Given the description of an element on the screen output the (x, y) to click on. 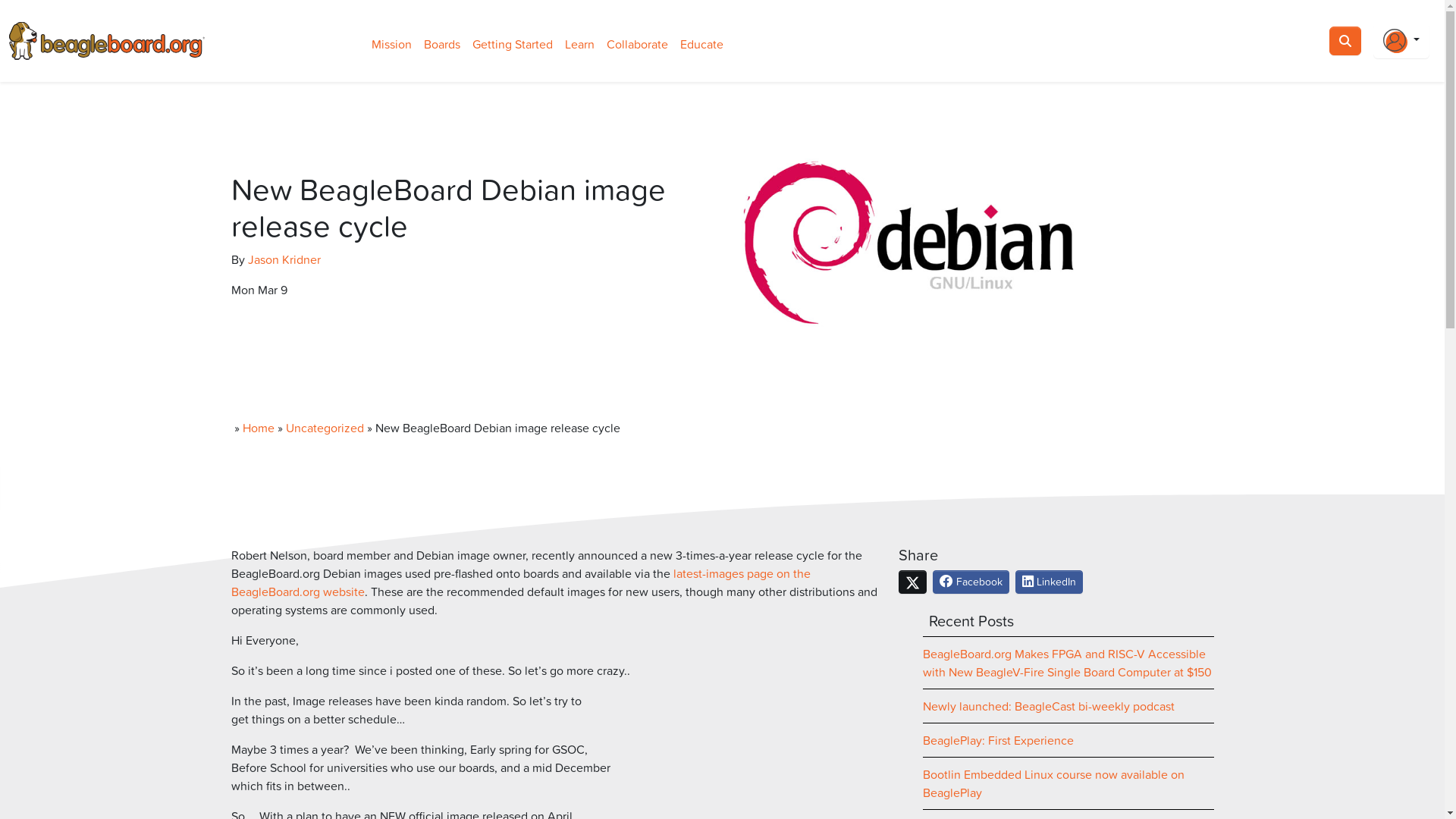
Newly launched: BeagleCast bi-weekly podcast Element type: text (1047, 705)
Home Element type: text (258, 427)
Facebook Element type: text (970, 581)
latest-images page on the BeagleBoard.org website Element type: text (519, 582)
Share on X Element type: hover (911, 581)
Getting Started Element type: text (512, 43)
Bootlin Embedded Linux course now available on BeaglePlay Element type: text (1052, 783)
Toggle search Element type: text (1345, 40)
Educate Element type: text (701, 43)
Jason Kridner Element type: text (283, 259)
BeaglePlay: First Experience Element type: text (997, 740)
Mission Element type: text (391, 43)
Uncategorized Element type: text (324, 427)
LinkedIn Element type: text (1048, 581)
Learn Element type: text (579, 43)
Boards Element type: text (441, 43)
Collaborate Element type: text (637, 43)
